Given the description of an element on the screen output the (x, y) to click on. 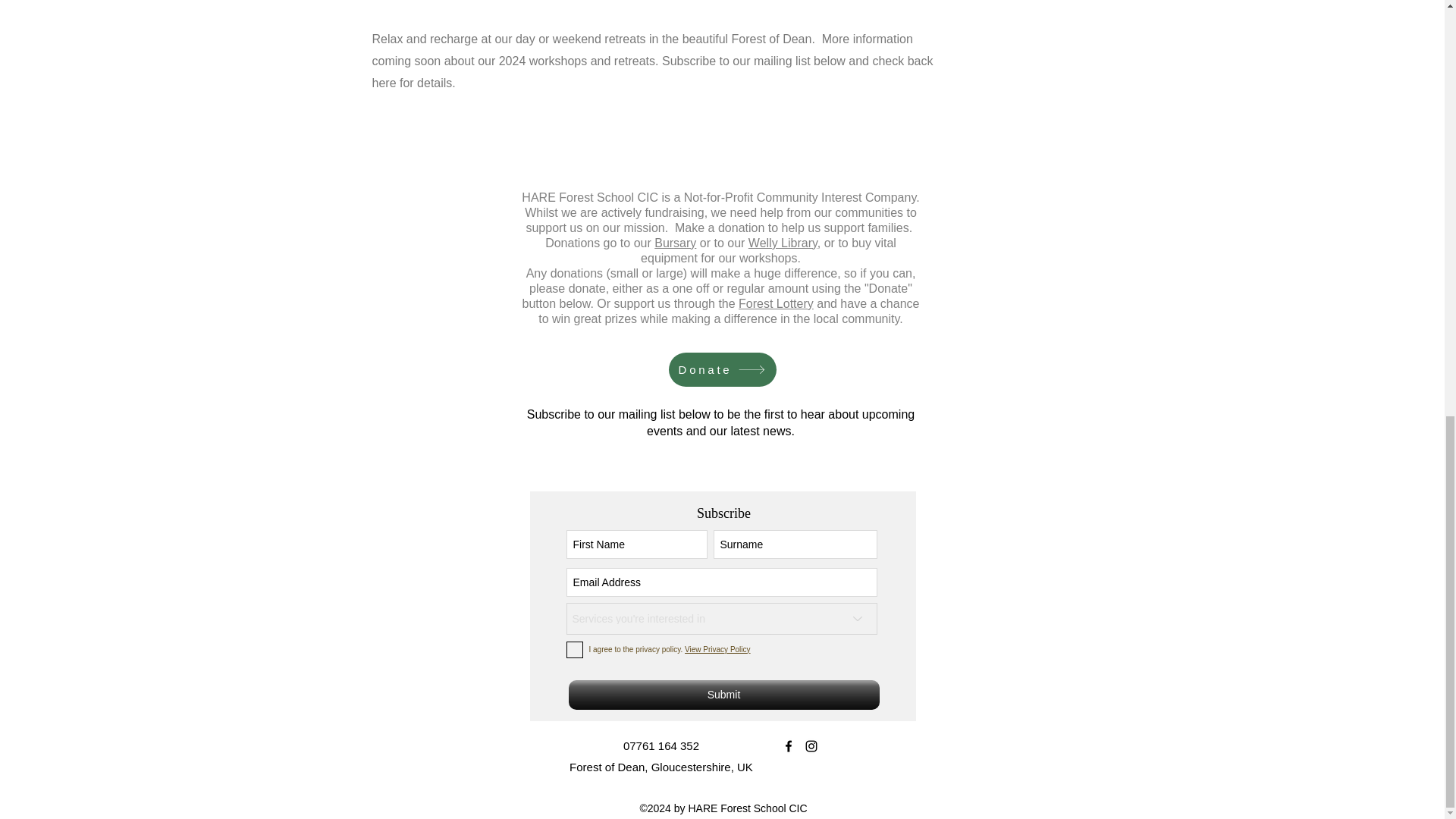
Submit (724, 695)
View Privacy Policy (717, 649)
Bursary (674, 242)
Forest Lottery (775, 303)
Donate (722, 369)
Welly Library (782, 242)
